Given the description of an element on the screen output the (x, y) to click on. 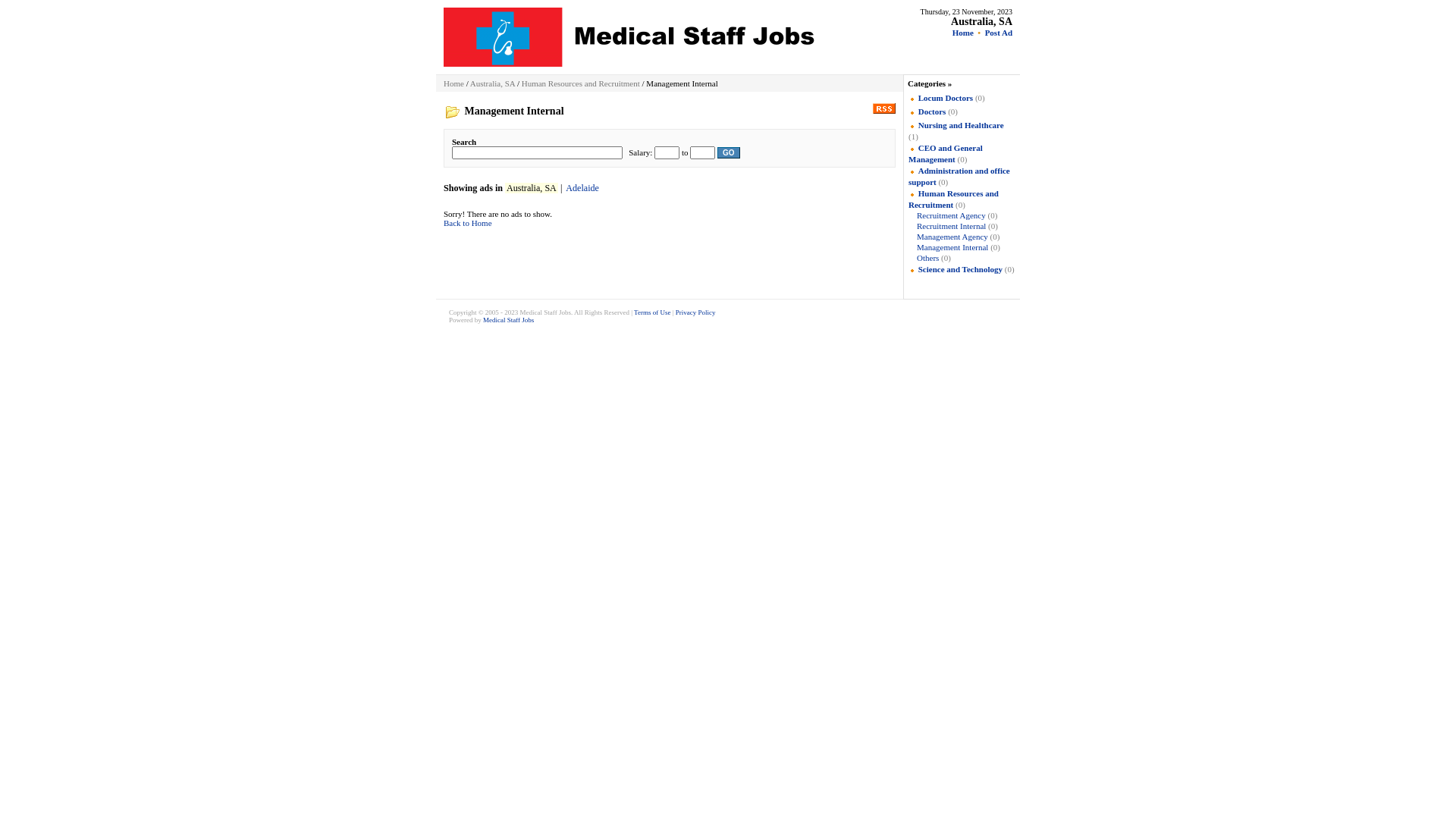
Adelaide Element type: text (582, 187)
GO Element type: text (728, 152)
Australia, SA Element type: text (981, 21)
Terms of Use Element type: text (651, 312)
Others Element type: text (927, 257)
Management Internal Element type: text (952, 246)
Administration and office support Element type: text (959, 176)
Recruitment Internal Element type: text (950, 225)
Home Element type: text (962, 32)
Post Ad Element type: text (998, 32)
Home Element type: text (453, 82)
Back to Home Element type: text (467, 222)
Privacy Policy Element type: text (695, 312)
Recruitment Agency Element type: text (950, 214)
Locum Doctors Element type: text (945, 97)
Management Agency Element type: text (952, 236)
Doctors Element type: text (932, 111)
Human Resources and Recruitment Element type: text (580, 82)
Nursing and Healthcare Element type: text (961, 124)
CEO and General Management Element type: text (945, 153)
Australia, SA Element type: text (492, 82)
Science and Technology Element type: text (960, 268)
Medical Staff Jobs Element type: text (508, 319)
Human Resources and Recruitment Element type: text (953, 198)
